Given the description of an element on the screen output the (x, y) to click on. 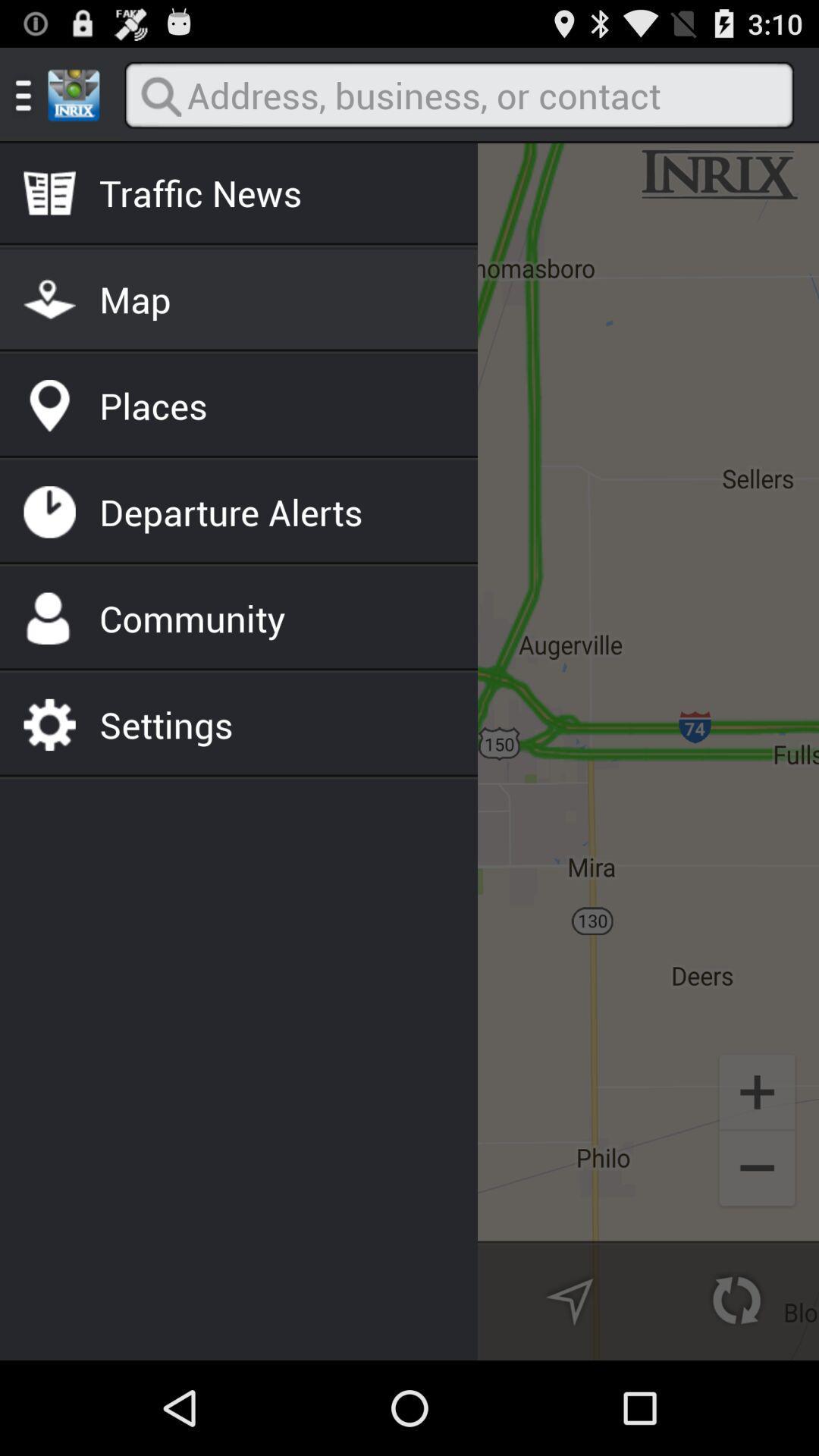
press community (192, 618)
